Given the description of an element on the screen output the (x, y) to click on. 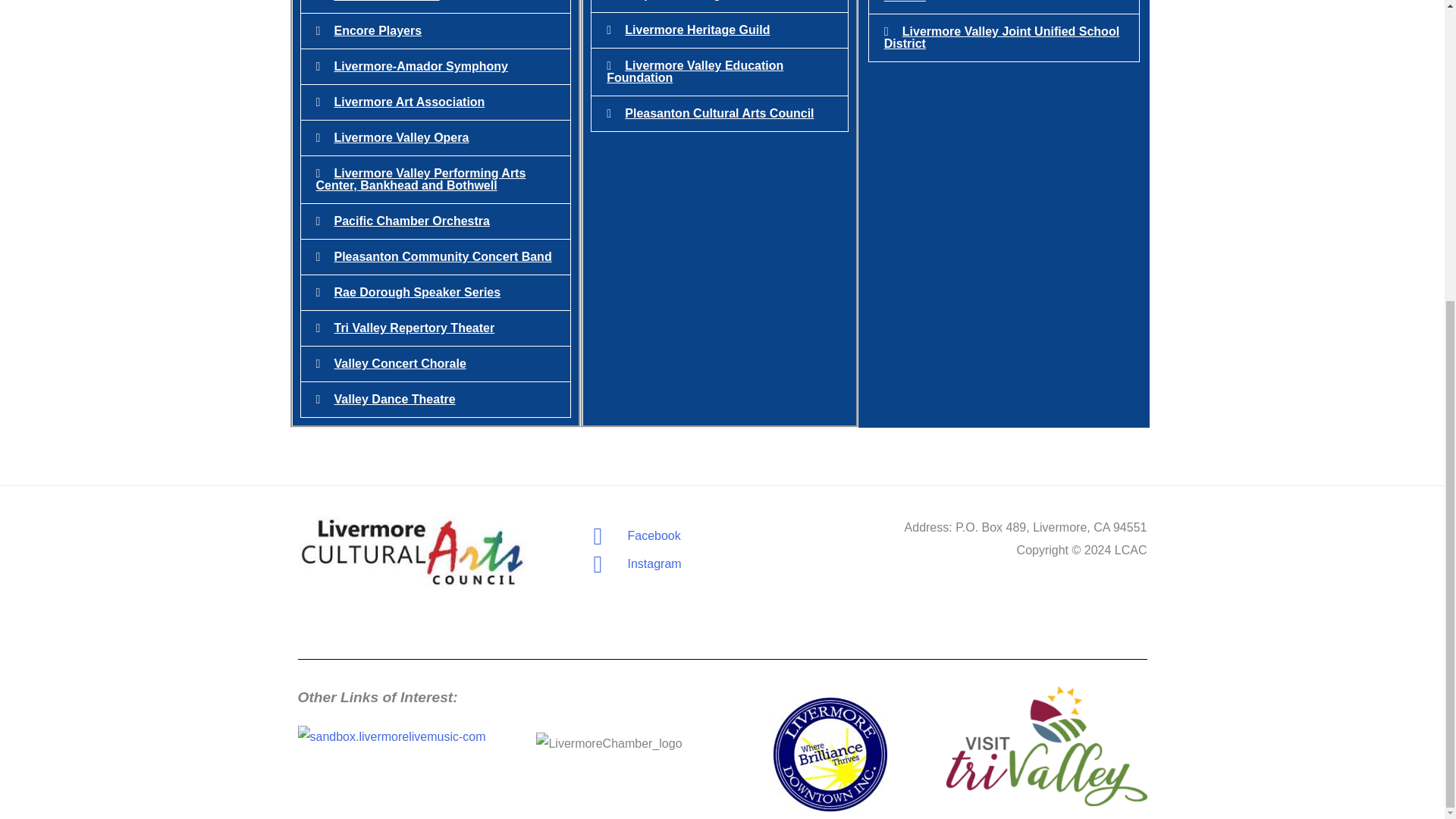
Valley Concert Chorale (399, 363)
Rae Dorough Speaker Series (416, 291)
Pleasanton Community Concert Band (442, 256)
Livermore Valley Opera (400, 137)
sandbox.livermorelivemusic-com (390, 736)
Livermore Art Association (408, 101)
Del Valle Fine Arts (386, 0)
Encore Players (377, 30)
Pacific Chamber Orchestra (411, 220)
Livermore-Amador Symphony (419, 65)
